Given the description of an element on the screen output the (x, y) to click on. 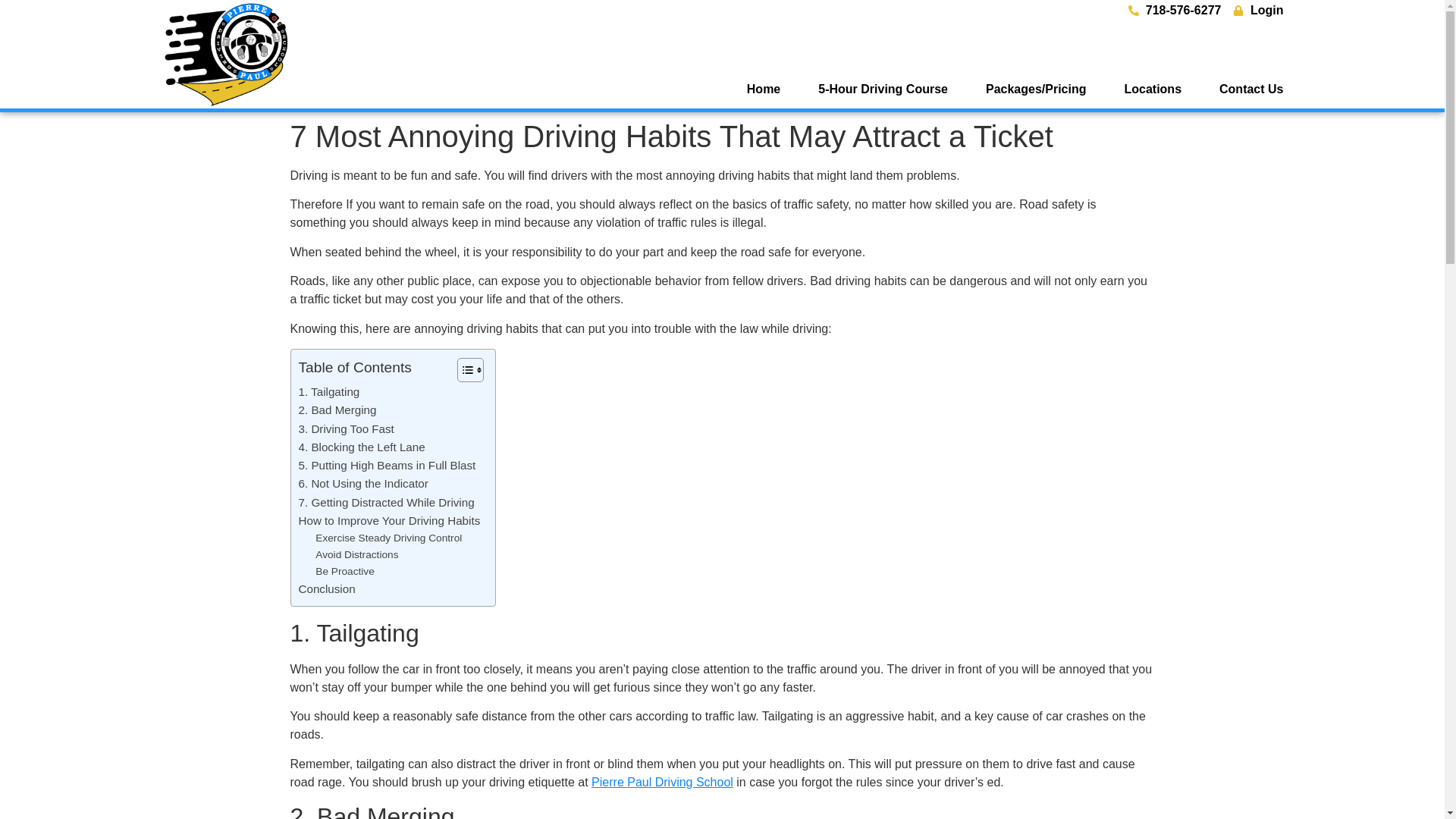
7. Getting Distracted While Driving (386, 502)
Contact Us (1251, 89)
3. Driving Too Fast (346, 429)
1. Tailgating (328, 392)
1. Tailgating (328, 392)
Locations (1152, 89)
How to Improve Your Driving Habits (389, 520)
Exercise Steady Driving Control (388, 538)
5-Hour Driving Course (882, 89)
2. Bad Merging (337, 410)
4. Blocking the Left Lane (361, 447)
4. Blocking the Left Lane (361, 447)
5. Putting High Beams in Full Blast (387, 465)
Be Proactive (344, 571)
How to Improve Your Driving Habits (389, 520)
